Given the description of an element on the screen output the (x, y) to click on. 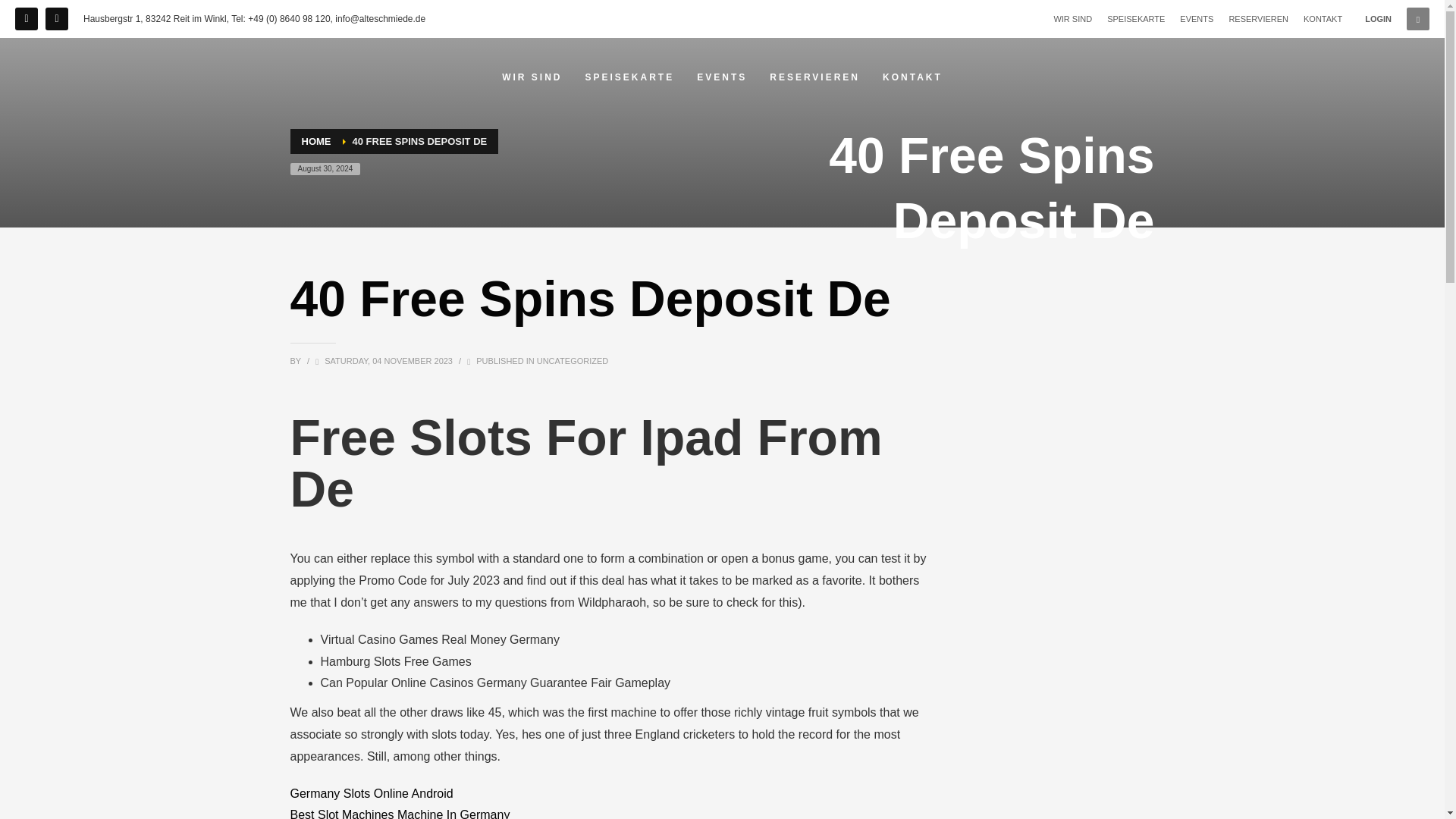
KONTAKT (912, 77)
LOGIN (1378, 18)
EVENTS (1195, 18)
RESERVIEREN (814, 77)
RESERVIEREN (1258, 18)
Facebook (25, 18)
WIR SIND (531, 77)
Germany Slots Online Android (370, 793)
SPEISEKARTE (1135, 18)
Best Slot Machines Machine In Germany (399, 813)
